Given the description of an element on the screen output the (x, y) to click on. 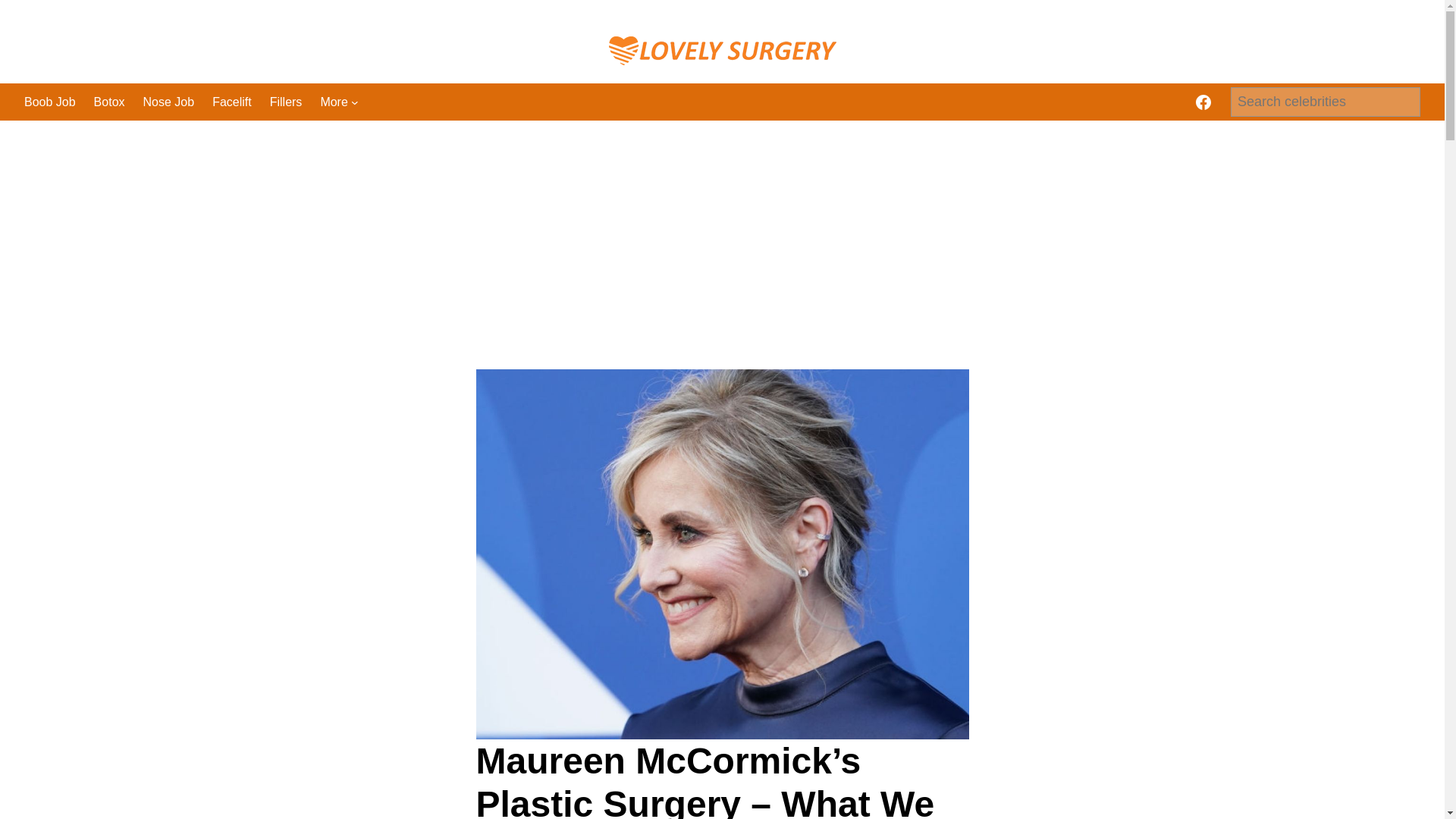
Lovely Surgery on Facebook (1202, 101)
Nose Job (168, 102)
More (333, 102)
Boob Job (49, 102)
Facelift (231, 102)
Botox (109, 102)
Fillers (285, 102)
